Given the description of an element on the screen output the (x, y) to click on. 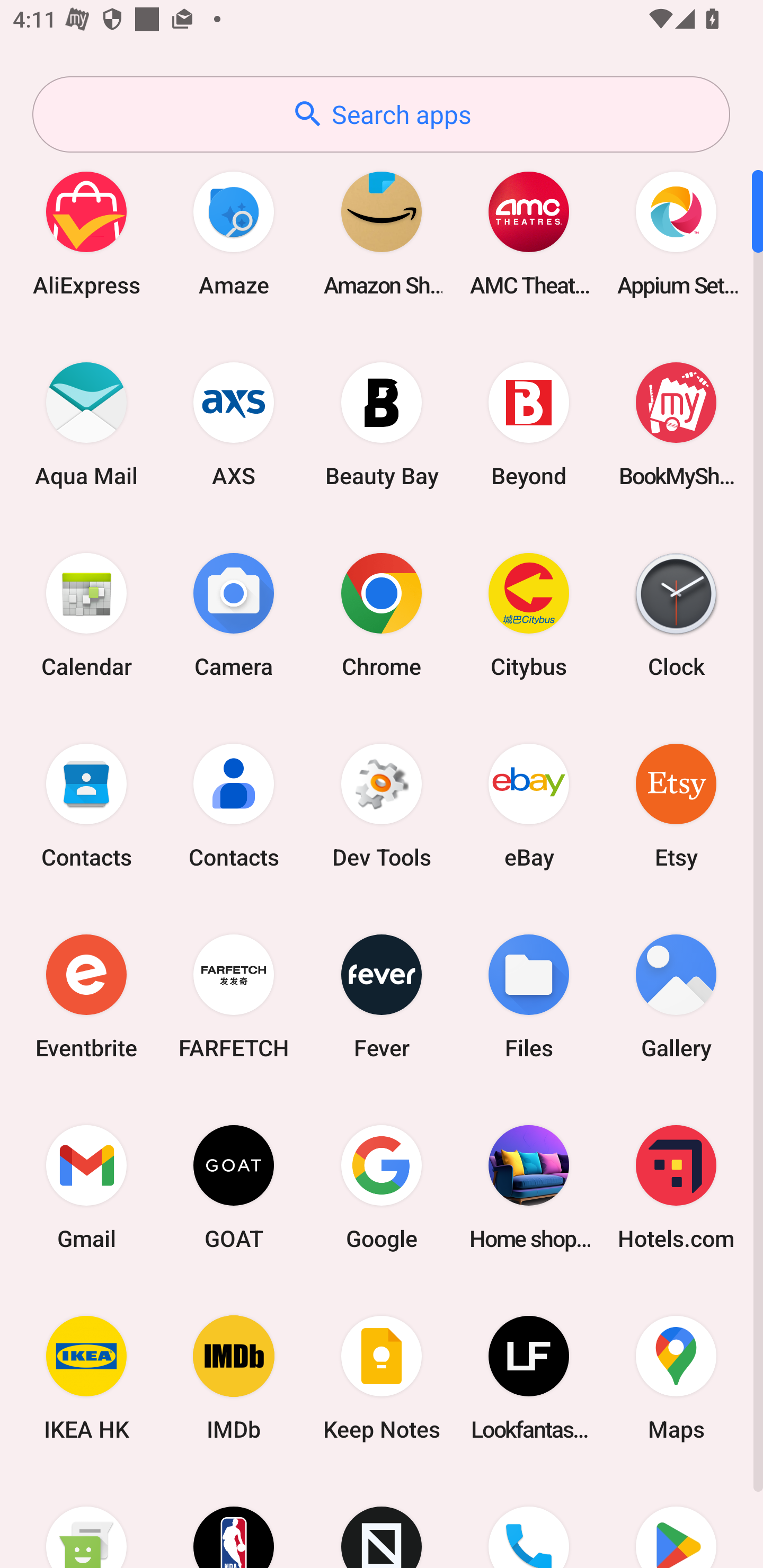
  Search apps (381, 114)
AliExpress (86, 233)
Amaze (233, 233)
Amazon Shopping (381, 233)
AMC Theatres (528, 233)
Appium Settings (676, 233)
Aqua Mail (86, 424)
AXS (233, 424)
Beauty Bay (381, 424)
Beyond (528, 424)
BookMyShow (676, 424)
Calendar (86, 614)
Camera (233, 614)
Chrome (381, 614)
Citybus (528, 614)
Clock (676, 614)
Contacts (86, 805)
Contacts (233, 805)
Dev Tools (381, 805)
eBay (528, 805)
Etsy (676, 805)
Eventbrite (86, 996)
FARFETCH (233, 996)
Fever (381, 996)
Files (528, 996)
Gallery (676, 996)
Gmail (86, 1186)
GOAT (233, 1186)
Google (381, 1186)
Home shopping (528, 1186)
Hotels.com (676, 1186)
IKEA HK (86, 1377)
IMDb (233, 1377)
Keep Notes (381, 1377)
Lookfantastic (528, 1377)
Maps (676, 1377)
